Given the description of an element on the screen output the (x, y) to click on. 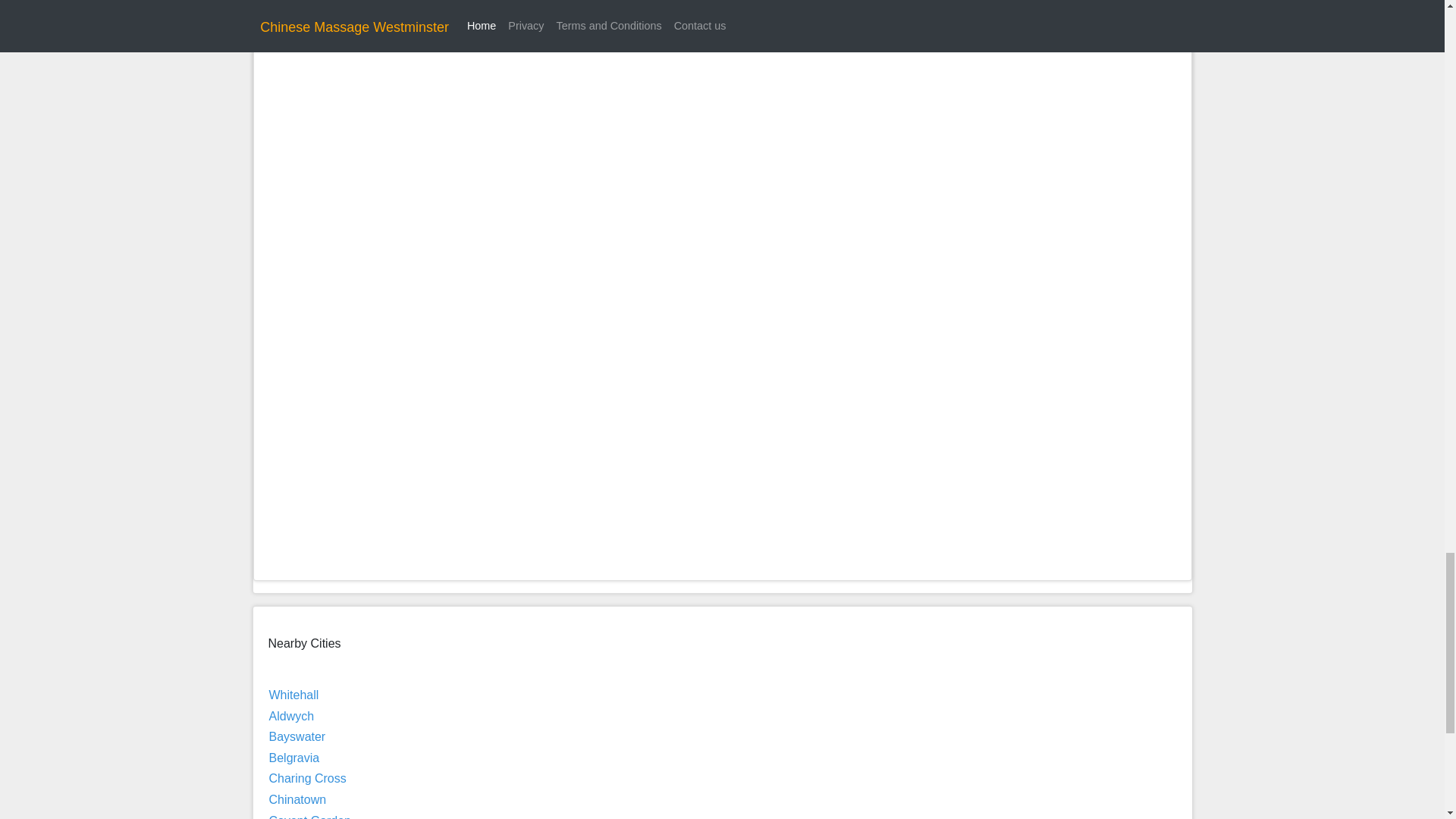
Bayswater (295, 736)
Whitehall (292, 694)
Belgravia (292, 757)
Charing Cross (306, 778)
Covent Garden (308, 816)
Chinatown (296, 799)
Aldwych (290, 716)
